Given the description of an element on the screen output the (x, y) to click on. 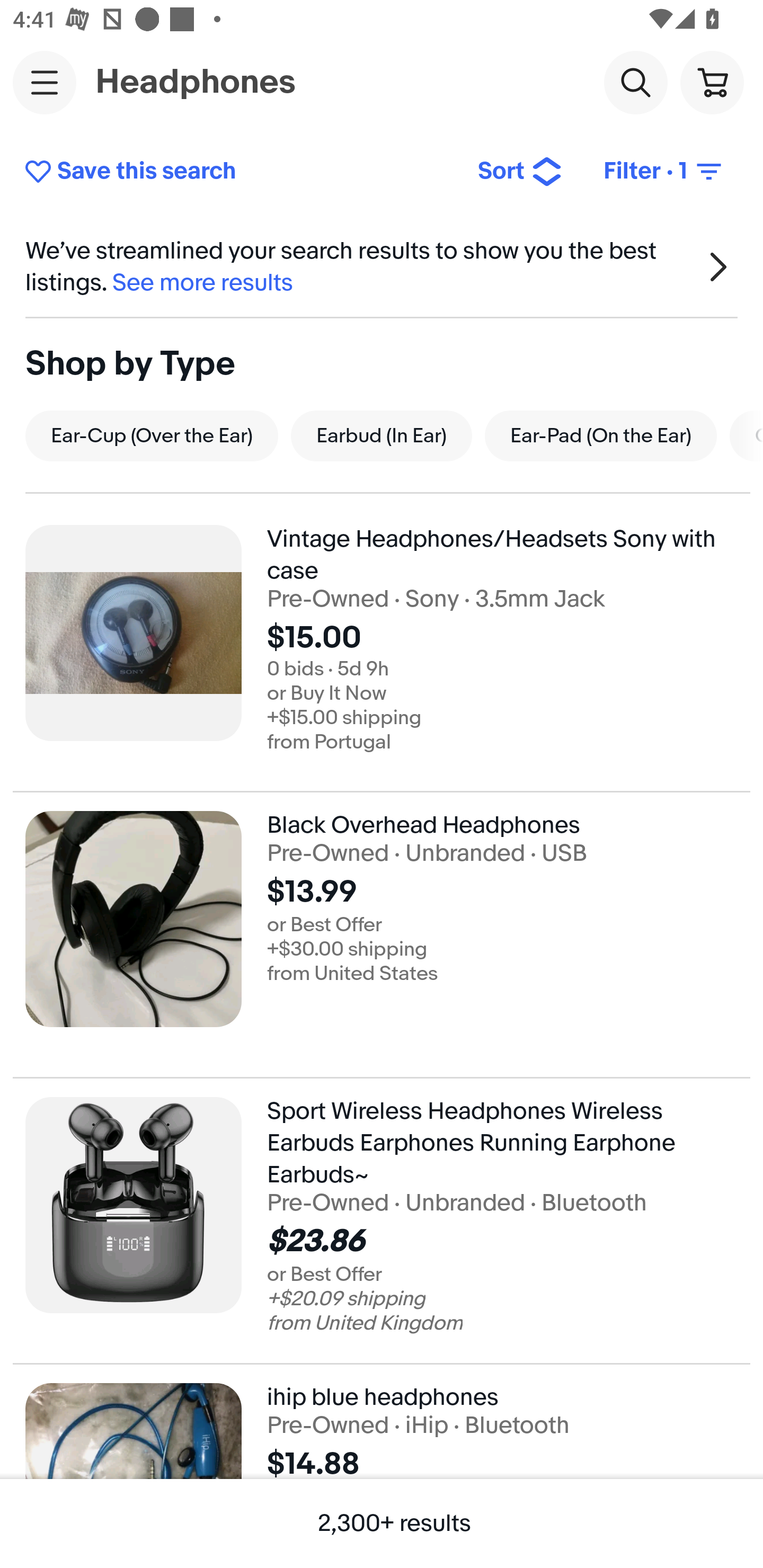
Main navigation, open (44, 82)
Search (635, 81)
Cart button shopping cart (711, 81)
Save this search (237, 171)
Sort (520, 171)
Filter • 1 Filter (1 applied) (663, 171)
Earbud (In Ear) Earbud (In Ear), Type (381, 435)
Ear-Pad (On the Ear) Ear-Pad (On the Ear), Type (600, 435)
